Given the description of an element on the screen output the (x, y) to click on. 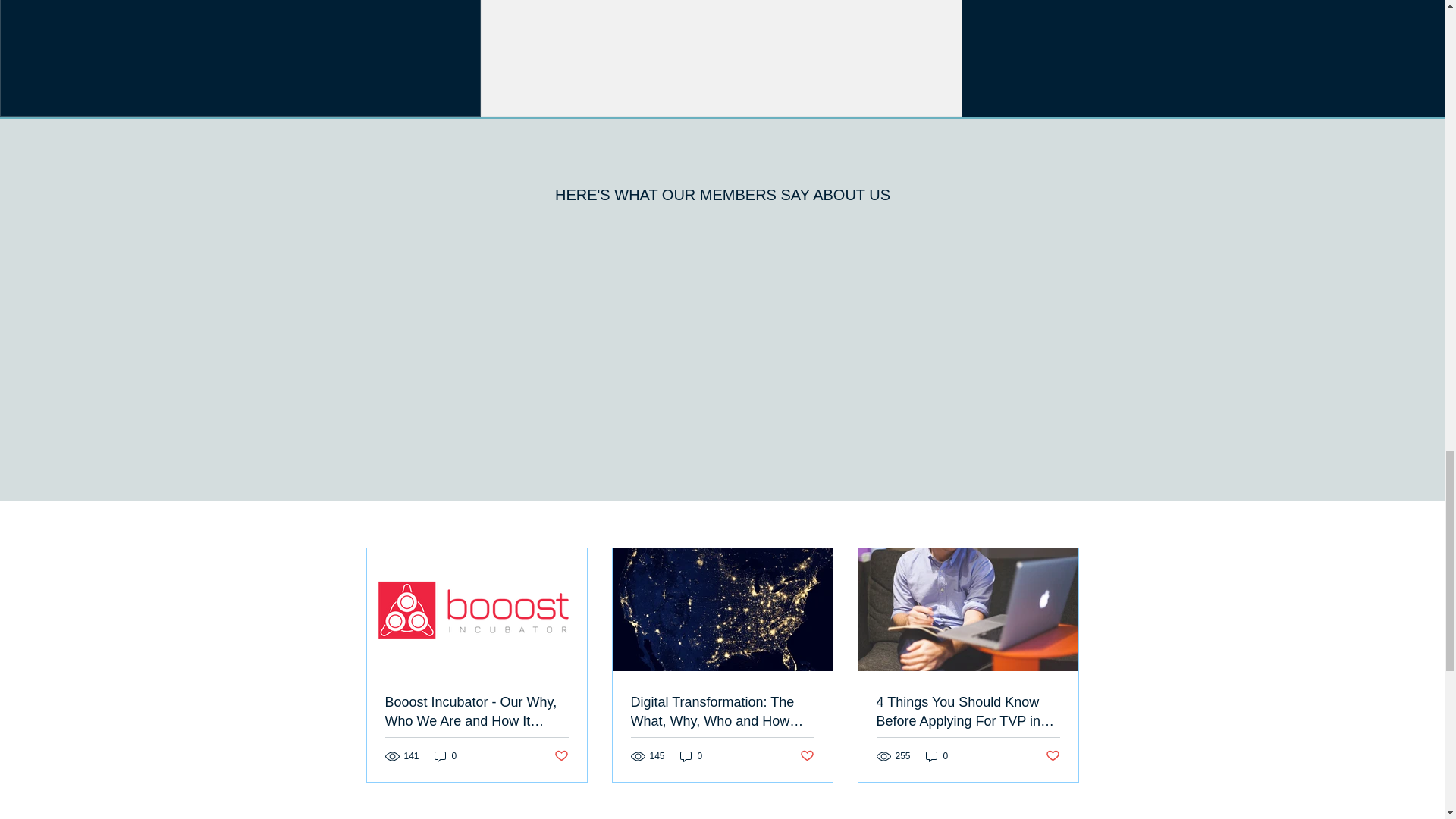
Booost Incubator - Our Why, Who We Are and How It Works. (477, 711)
0 (691, 756)
0 (937, 756)
0 (445, 756)
Post not marked as liked (1052, 756)
Post not marked as liked (806, 756)
Post not marked as liked (560, 756)
